Given the description of an element on the screen output the (x, y) to click on. 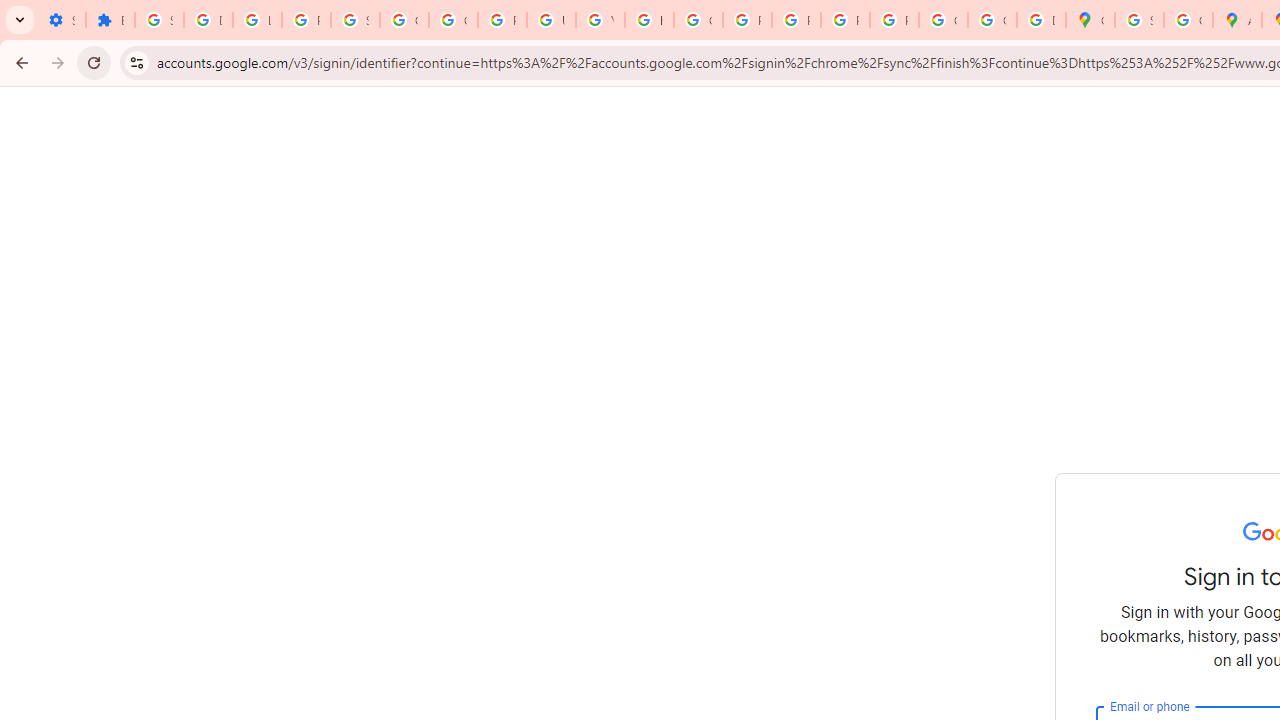
Sign in - Google Accounts (159, 20)
Sign in - Google Accounts (355, 20)
Google Maps (1090, 20)
Create your Google Account (1188, 20)
YouTube (600, 20)
